Given the description of an element on the screen output the (x, y) to click on. 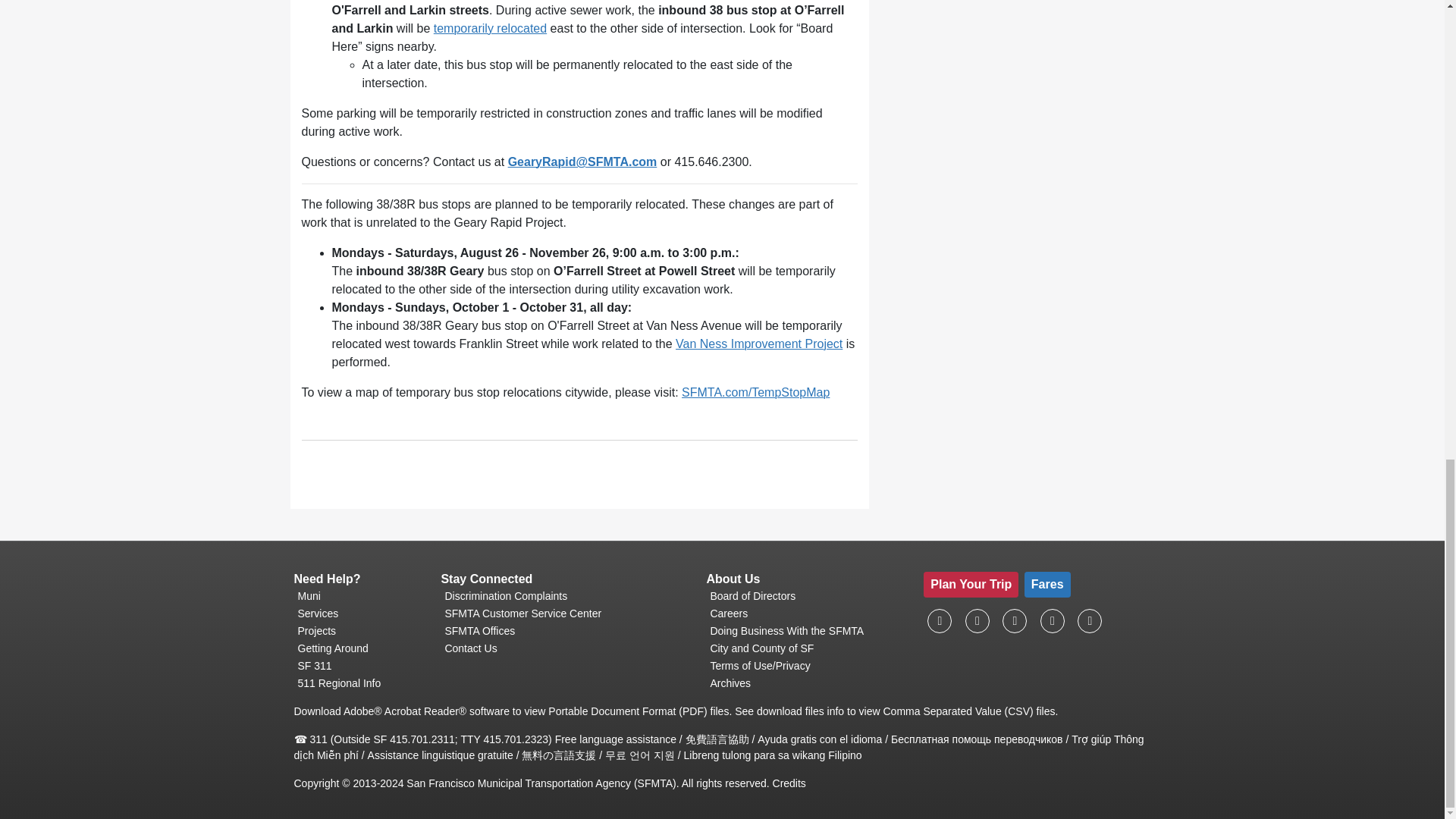
Muni (361, 596)
Van Ness Improvement Project (759, 343)
temporarily relocated (490, 28)
11 South Van Ness Avenue (567, 613)
